Given the description of an element on the screen output the (x, y) to click on. 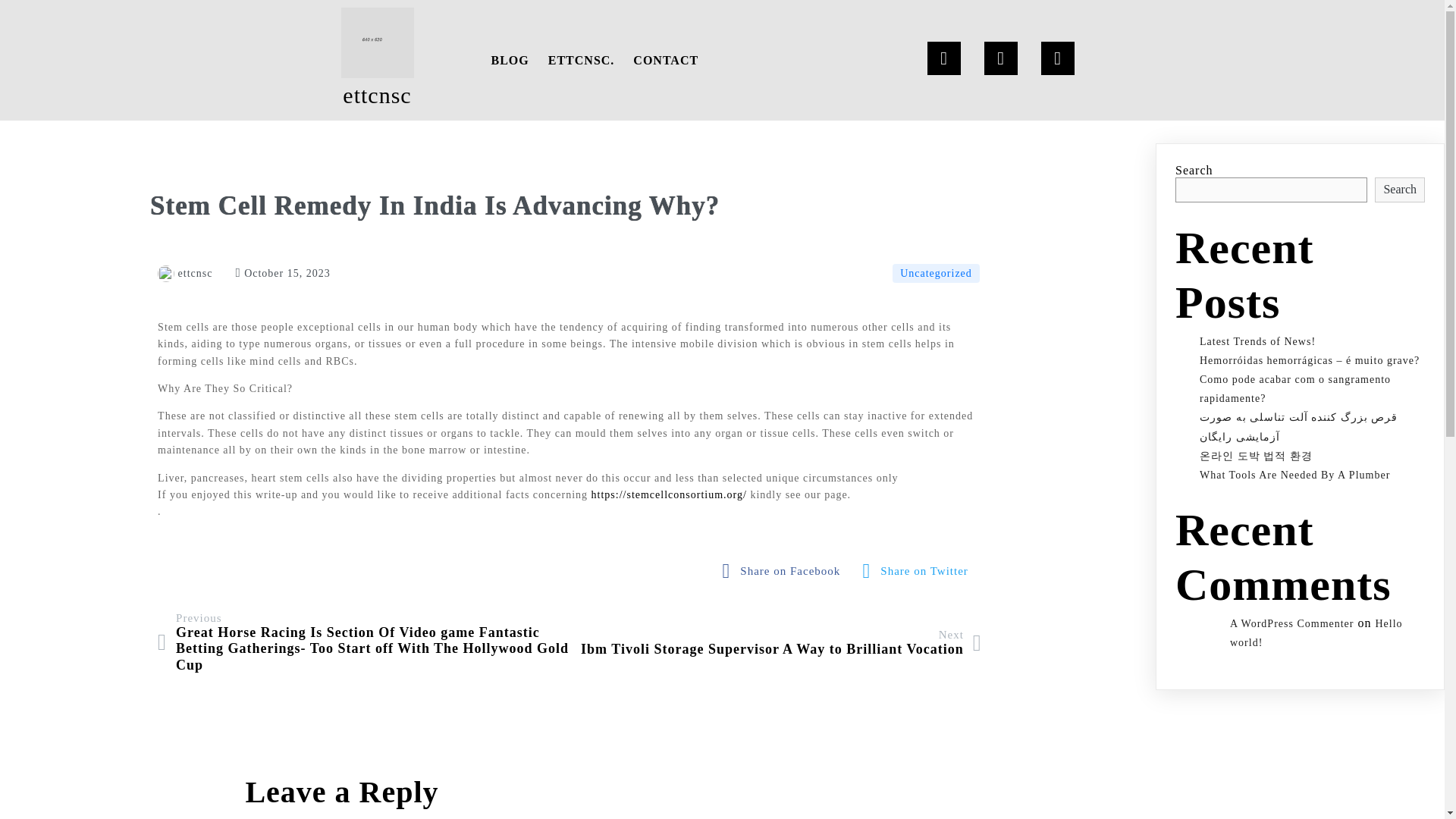
ettcnsc (377, 60)
fab fa-facebook-square (786, 570)
October 15, 2023 (282, 272)
Share on Facebook (786, 570)
logo (376, 42)
CONTACT (666, 59)
Share on Twitter (920, 570)
Uncategorized (935, 272)
A WordPress Commenter (1292, 623)
ETTCNSC. (581, 59)
fab fa-twitter-square (920, 570)
Hello world! (1316, 633)
Latest Trends of News! (1257, 341)
